Given the description of an element on the screen output the (x, y) to click on. 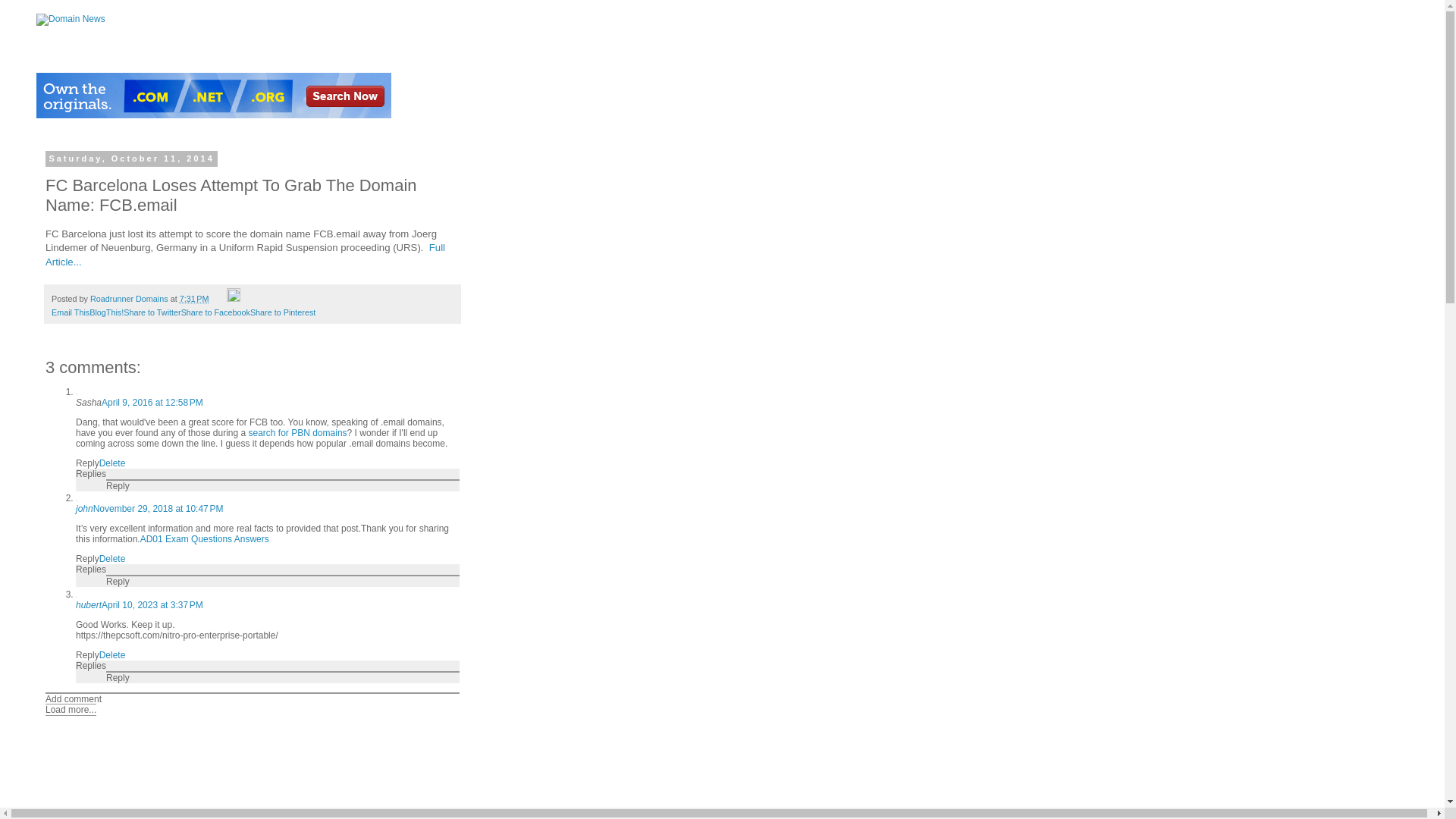
Reply (117, 677)
Reply (87, 655)
BlogThis! (105, 311)
BlogThis! (105, 311)
Email This (69, 311)
AD01 Exam Questions Answers (204, 538)
Replies (90, 665)
Email Post (219, 298)
Full Article... (245, 253)
Share to Pinterest (282, 311)
Share to Pinterest (282, 311)
Edit Post (233, 298)
Share to Facebook (215, 311)
